Given the description of an element on the screen output the (x, y) to click on. 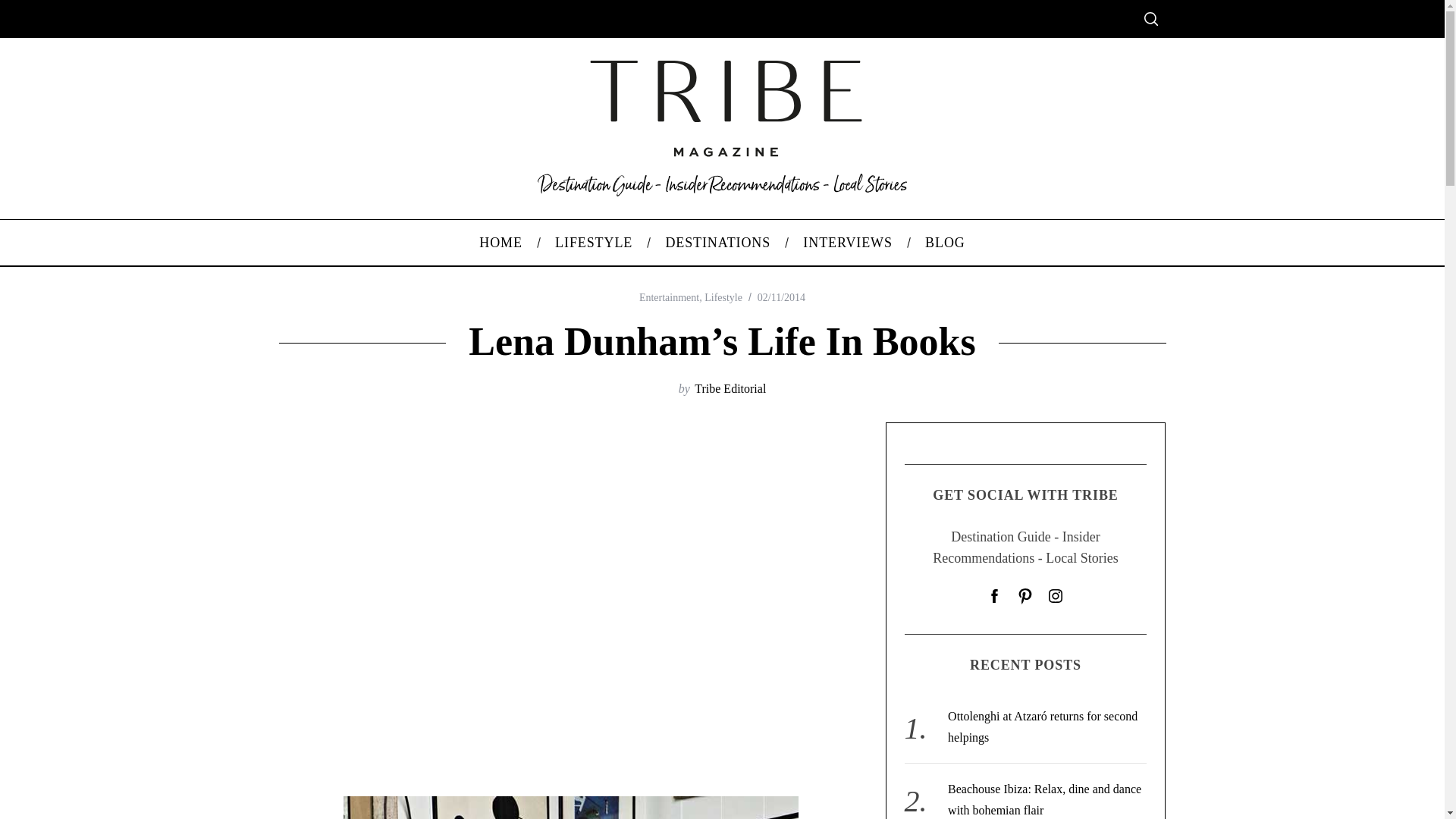
Interviews (847, 242)
Tribe Editorial (729, 388)
INTERVIEWS (847, 242)
Home (500, 242)
DESTINATIONS (718, 242)
Lifestyle (723, 297)
BLOG (944, 242)
